Given the description of an element on the screen output the (x, y) to click on. 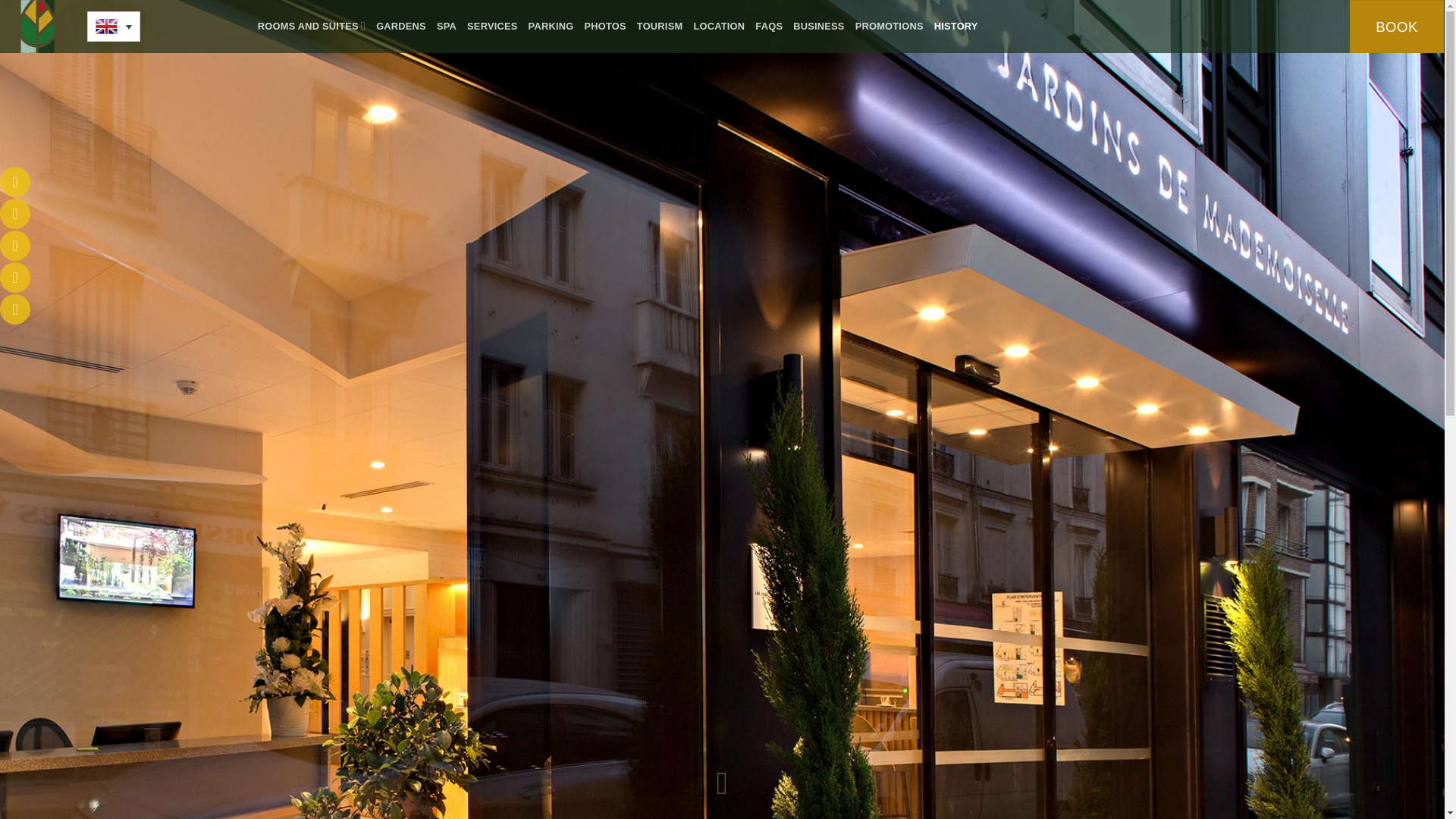
FAQS (769, 26)
PARKING (550, 26)
GARDENS (400, 26)
PROMOTIONS (889, 26)
HISTORY (956, 26)
SERVICES (492, 26)
PHOTOS (604, 26)
TOURISM (659, 26)
BUSINESS (818, 26)
BOOK (1396, 26)
